Given the description of an element on the screen output the (x, y) to click on. 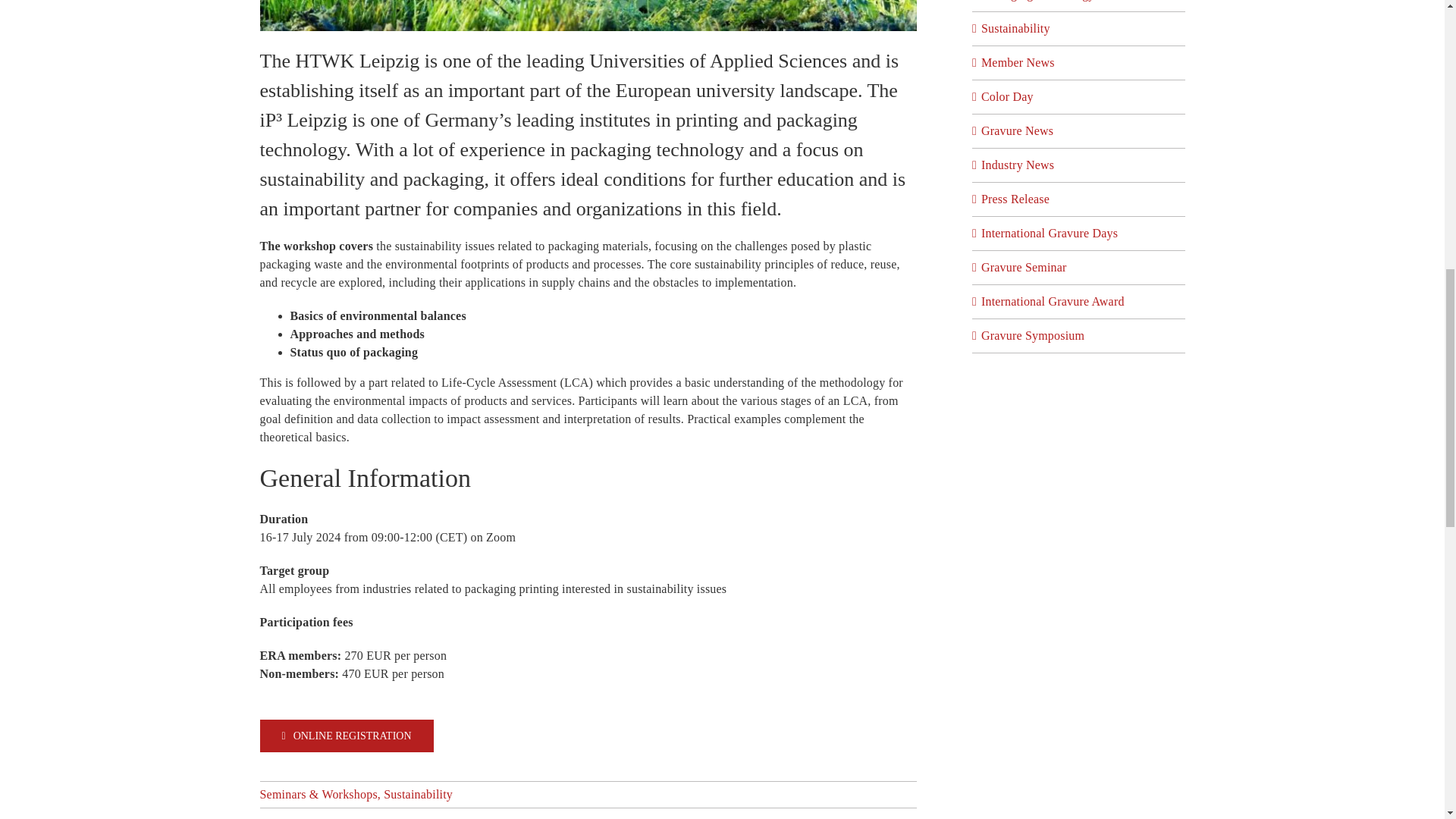
ONLINE REGISTRATION (345, 735)
Industry News (1079, 165)
Sustainability (418, 793)
Color Day (1079, 96)
Press Release (1079, 199)
Packaging Technology (1079, 2)
Gravure News (1079, 131)
Sustainability (1079, 28)
International Gravure Days (1079, 233)
Member News (1079, 63)
